Given the description of an element on the screen output the (x, y) to click on. 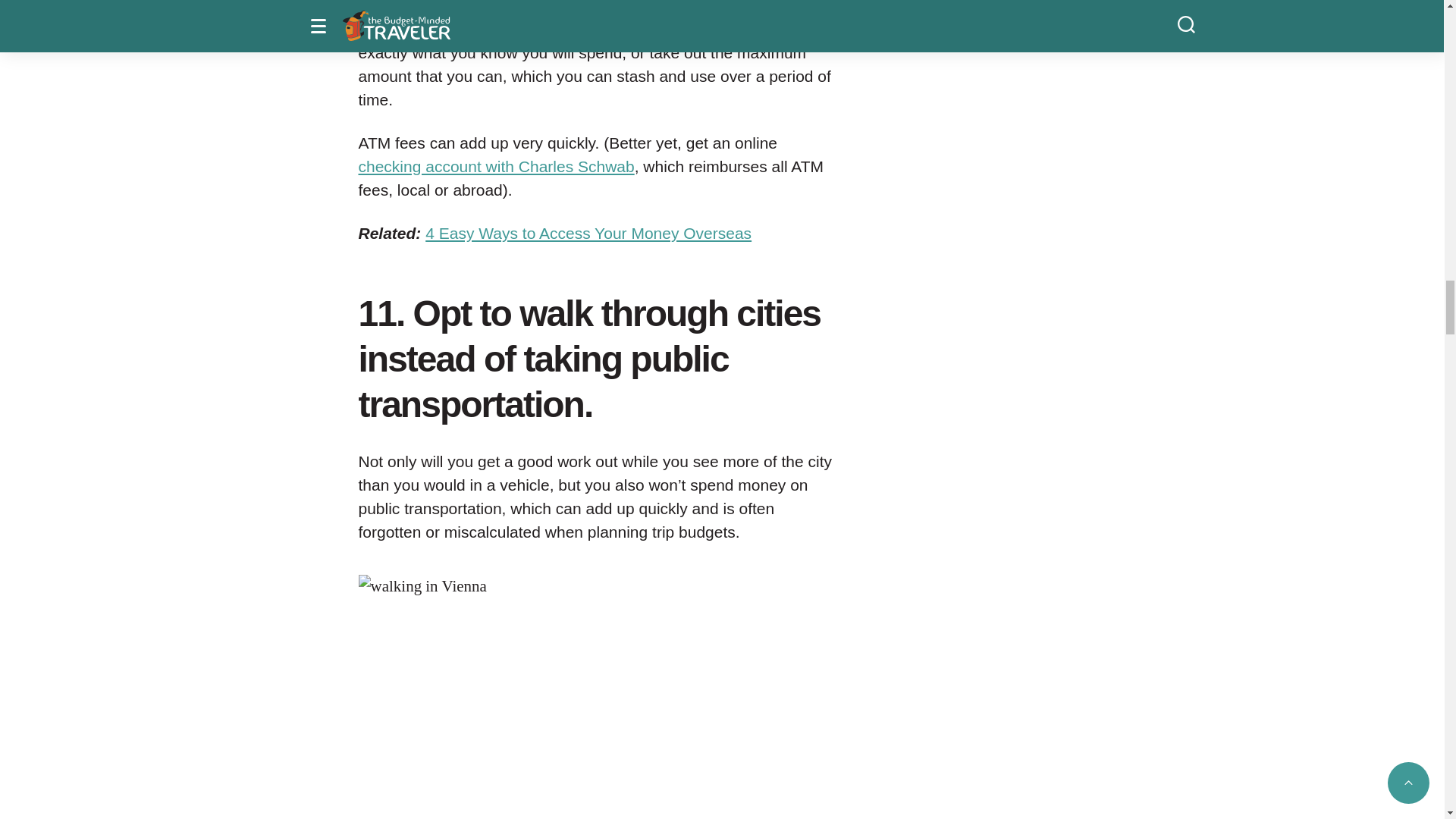
4 Easy Ways to Access Your Money Overseas (588, 232)
checking account with Charles Schwab (495, 166)
4 Easy Ways to Access Your Money Overseas (588, 232)
